Given the description of an element on the screen output the (x, y) to click on. 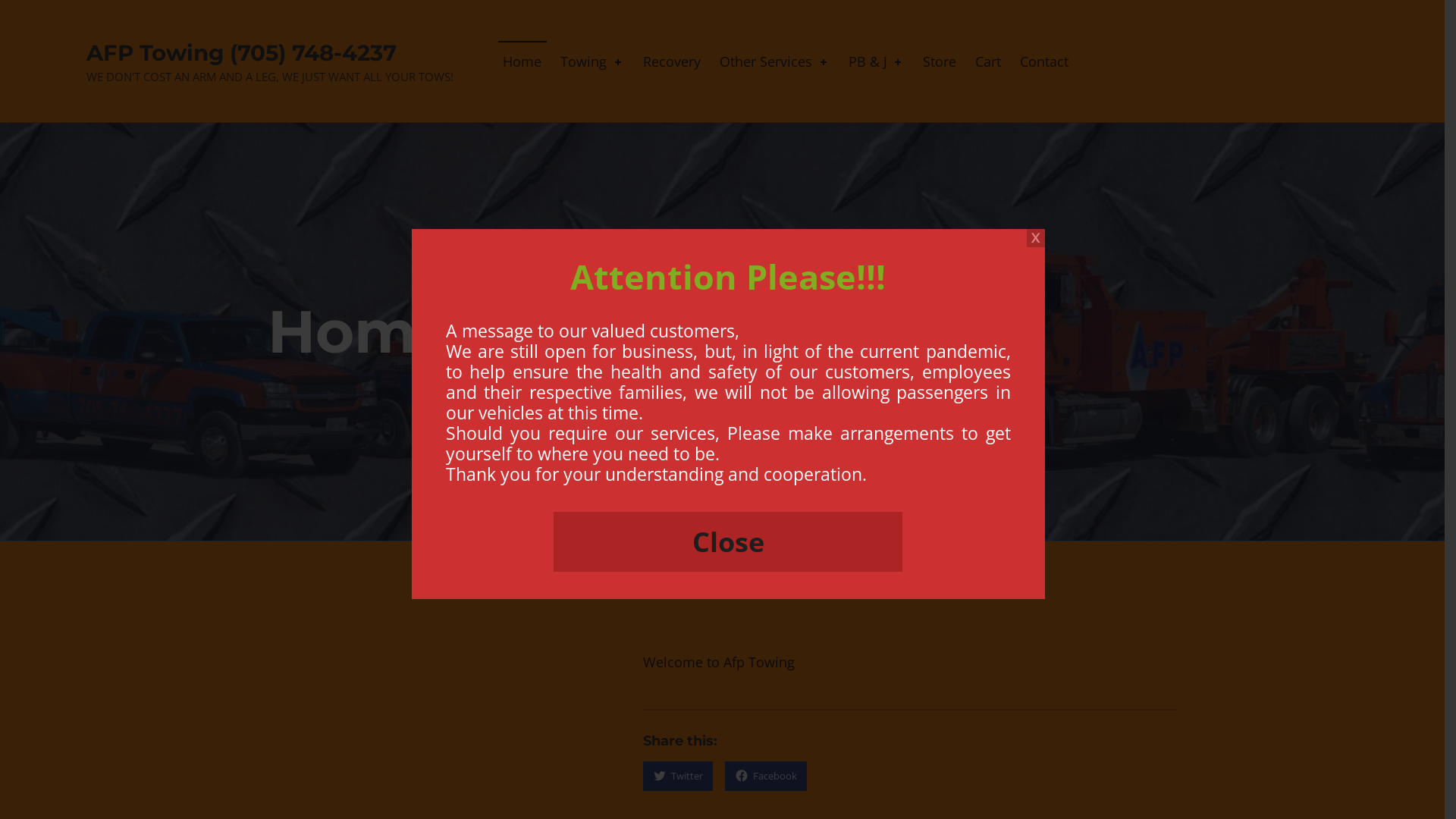
Towing Element type: text (592, 60)
Twitter Element type: text (677, 775)
Home Element type: text (522, 60)
PB & J Element type: text (876, 60)
Store Element type: text (939, 60)
Cart Element type: text (987, 60)
Skip back to main navigation Element type: text (266, 815)
Facebook Element type: text (765, 775)
Other Services Element type: text (774, 60)
Contact Element type: text (1043, 60)
Recovery Element type: text (671, 60)
